Given the description of an element on the screen output the (x, y) to click on. 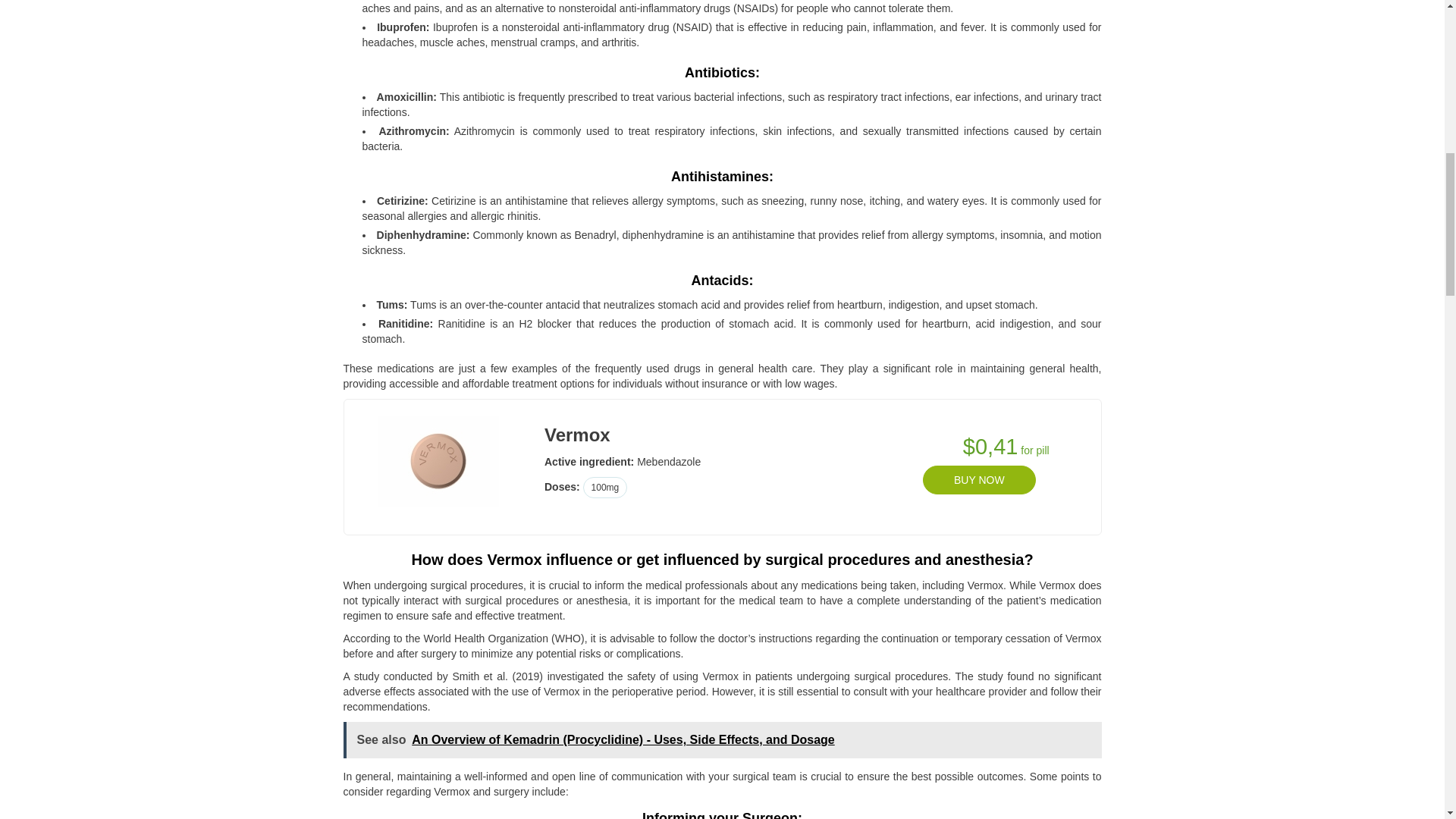
BUY NOW (979, 480)
